Given the description of an element on the screen output the (x, y) to click on. 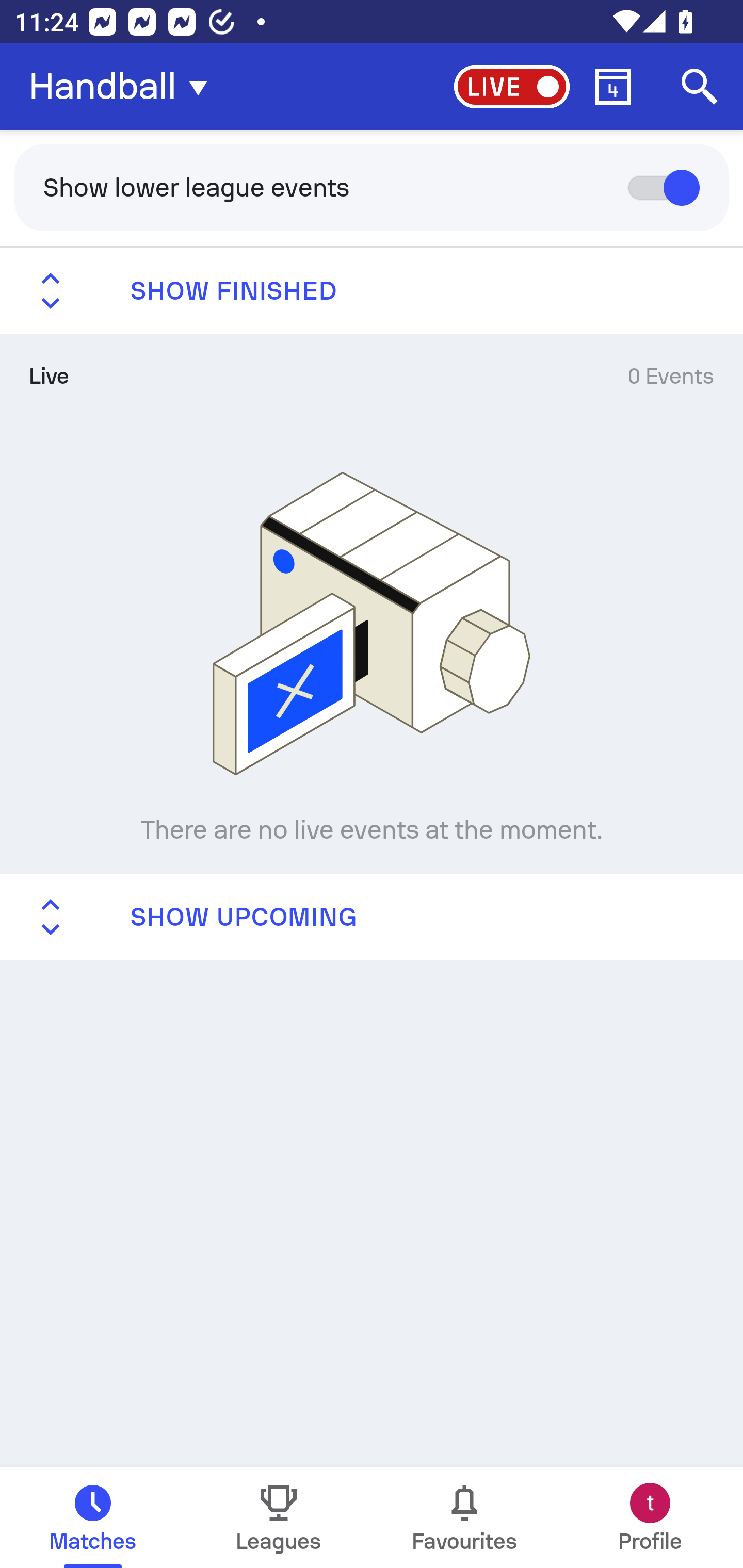
Handball (124, 86)
Calendar (612, 86)
Search (699, 86)
Show lower league events (371, 187)
SHOW FINISHED (371, 290)
SHOW UPCOMING (371, 916)
Leagues (278, 1517)
Favourites (464, 1517)
Profile (650, 1517)
